Given the description of an element on the screen output the (x, y) to click on. 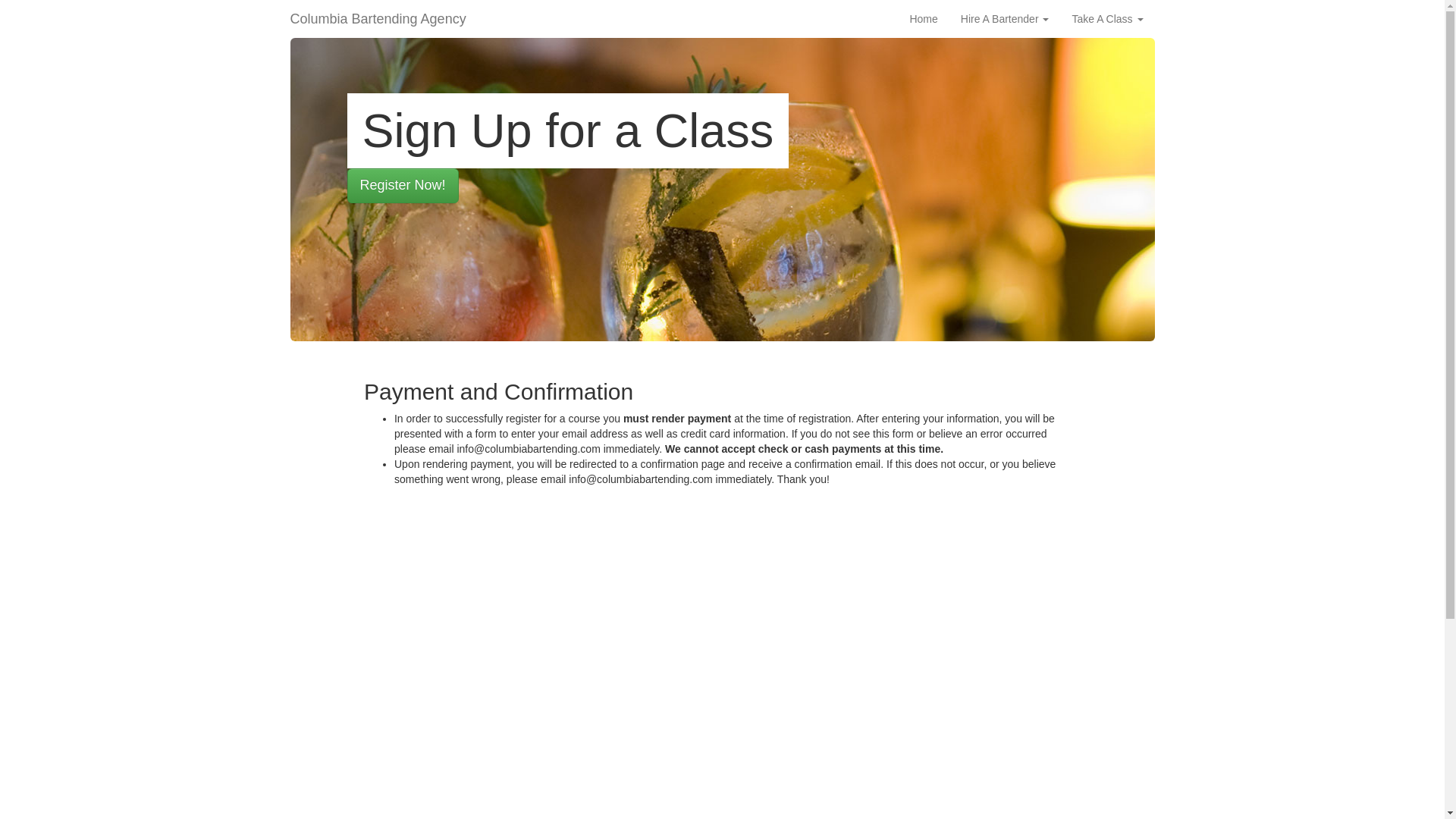
Register Now! (402, 185)
Hire A Bartender (1005, 18)
Take A Class (1106, 18)
Columbia Bartending Agency (378, 18)
Home (923, 18)
